Given the description of an element on the screen output the (x, y) to click on. 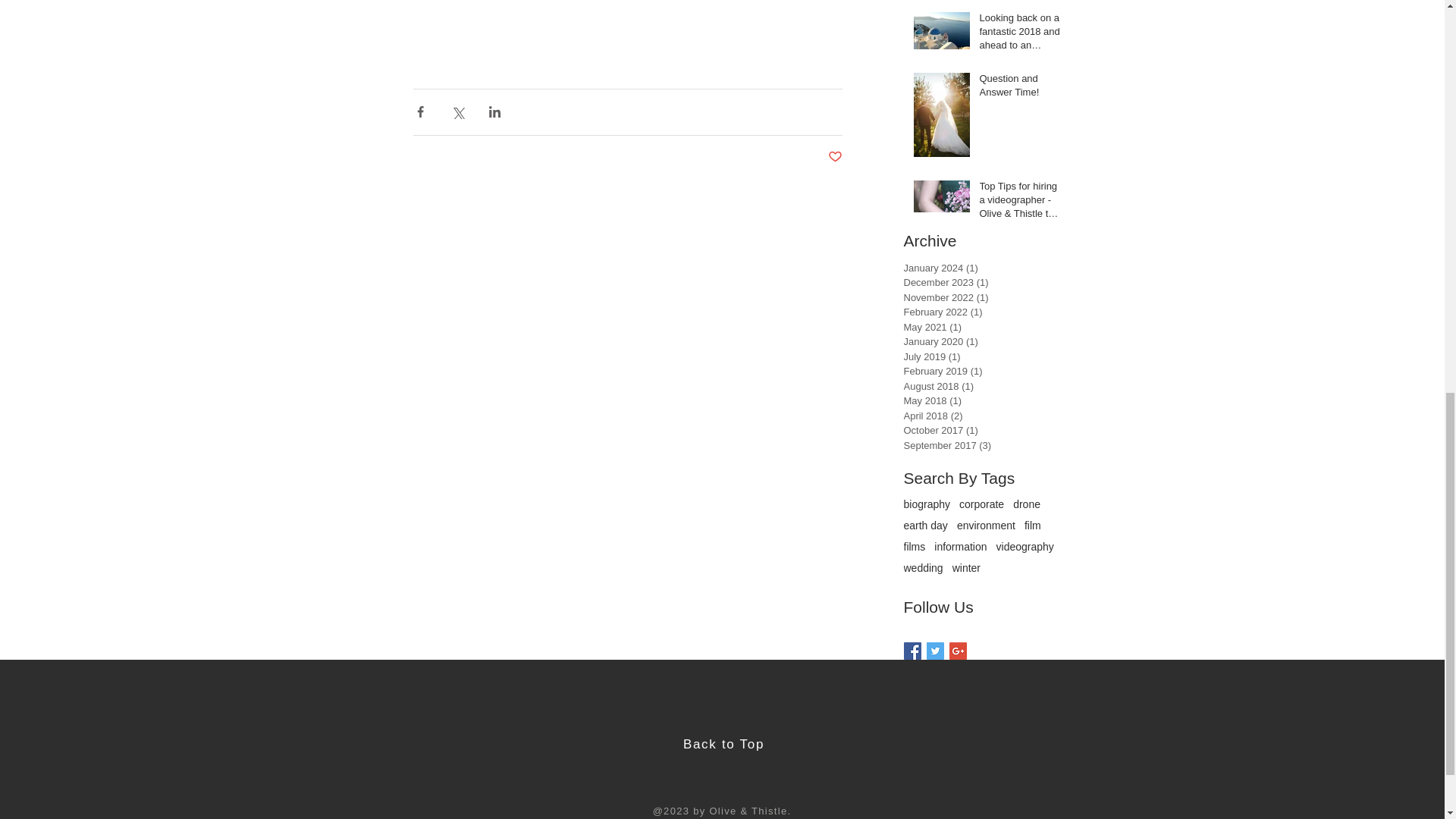
corporate (981, 503)
film (1033, 525)
Post not marked as liked (835, 157)
Question and Answer Time! (1020, 88)
biography (927, 503)
environment (985, 525)
earth day (925, 525)
drone (1027, 503)
